Given the description of an element on the screen output the (x, y) to click on. 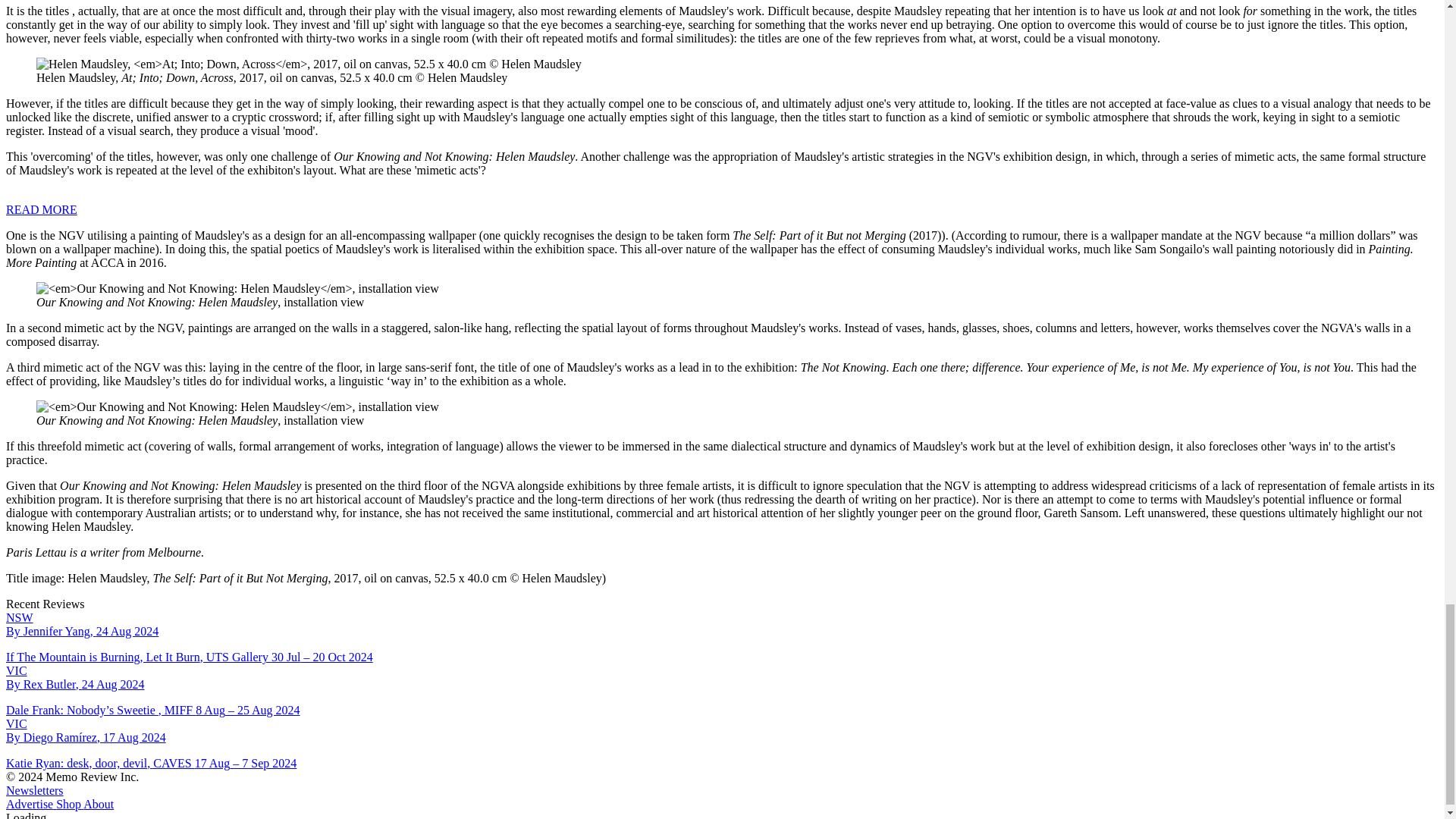
Newsletters (34, 789)
Advertise (28, 803)
 Shop (66, 803)
 About (97, 803)
READ MORE (41, 209)
